Given the description of an element on the screen output the (x, y) to click on. 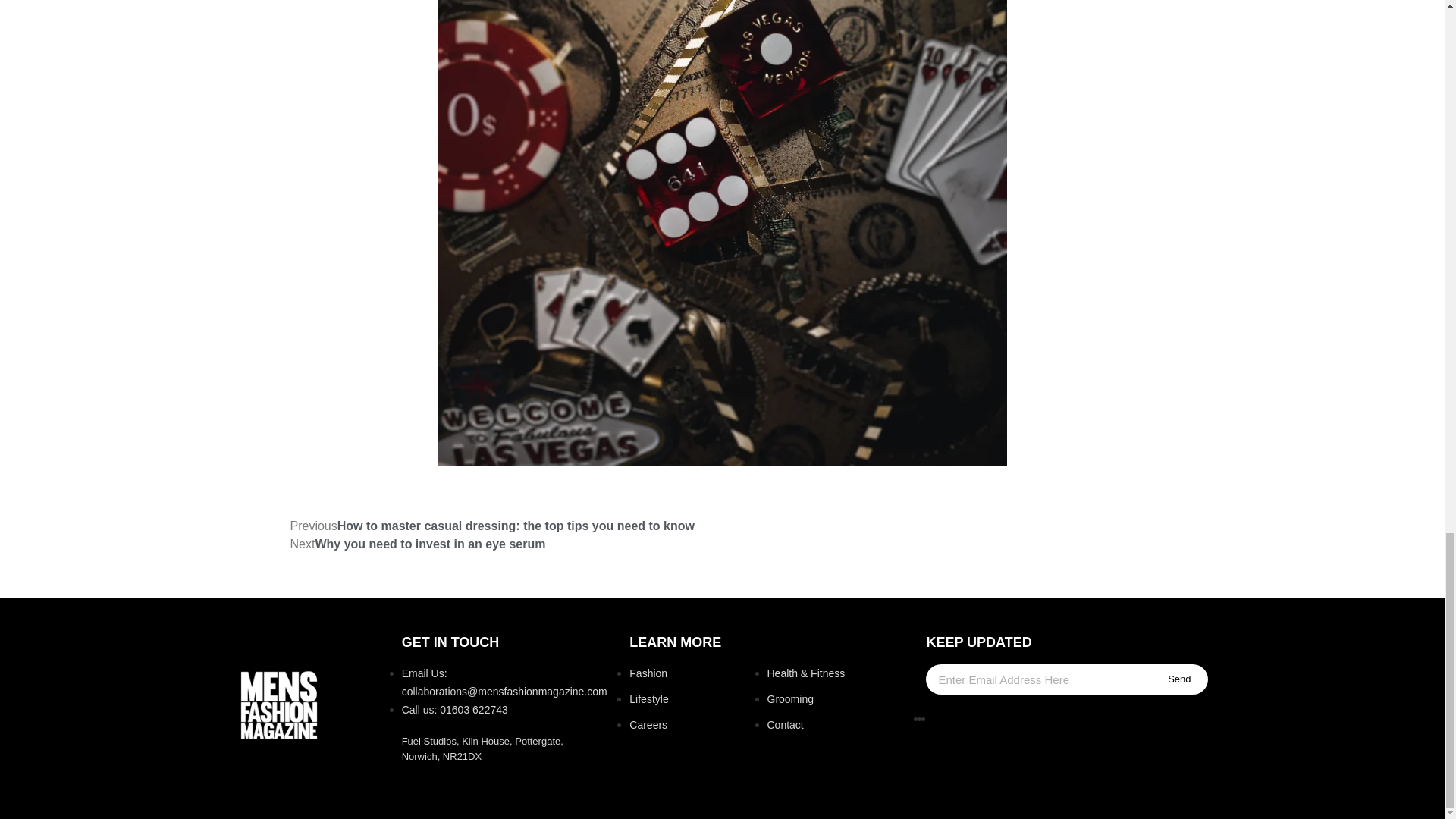
Grooming (790, 698)
Fashion (647, 673)
Send (1179, 679)
Lifestyle (648, 698)
NextWhy you need to invest in an eye serum (416, 543)
Contact (785, 725)
